Given the description of an element on the screen output the (x, y) to click on. 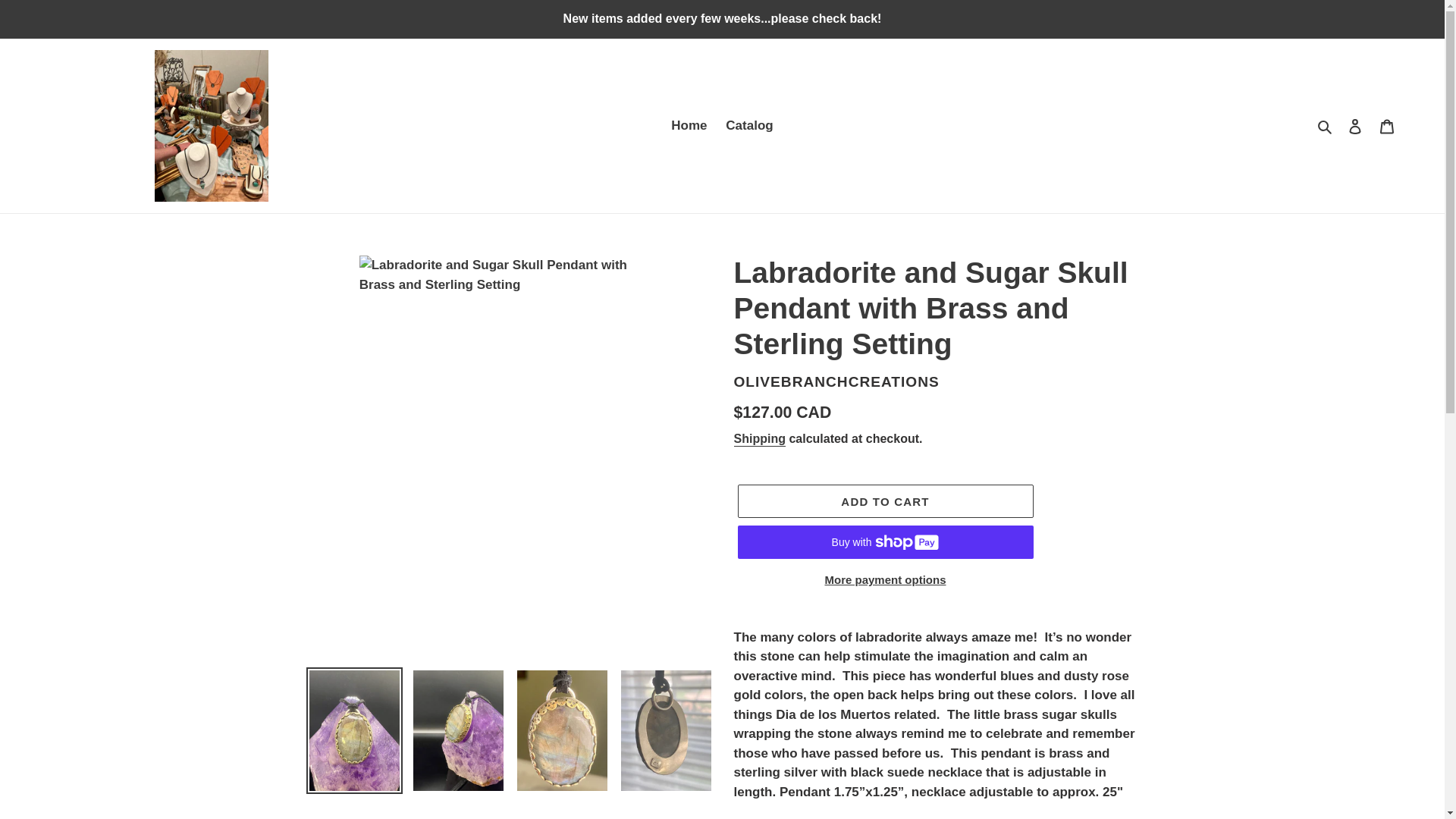
Cart (1387, 125)
Shipping (759, 439)
ADD TO CART (884, 500)
Search (1326, 125)
Home (688, 125)
More payment options (884, 579)
Catalog (748, 125)
Log in (1355, 125)
New items added every few weeks...please check back! (721, 18)
